Given the description of an element on the screen output the (x, y) to click on. 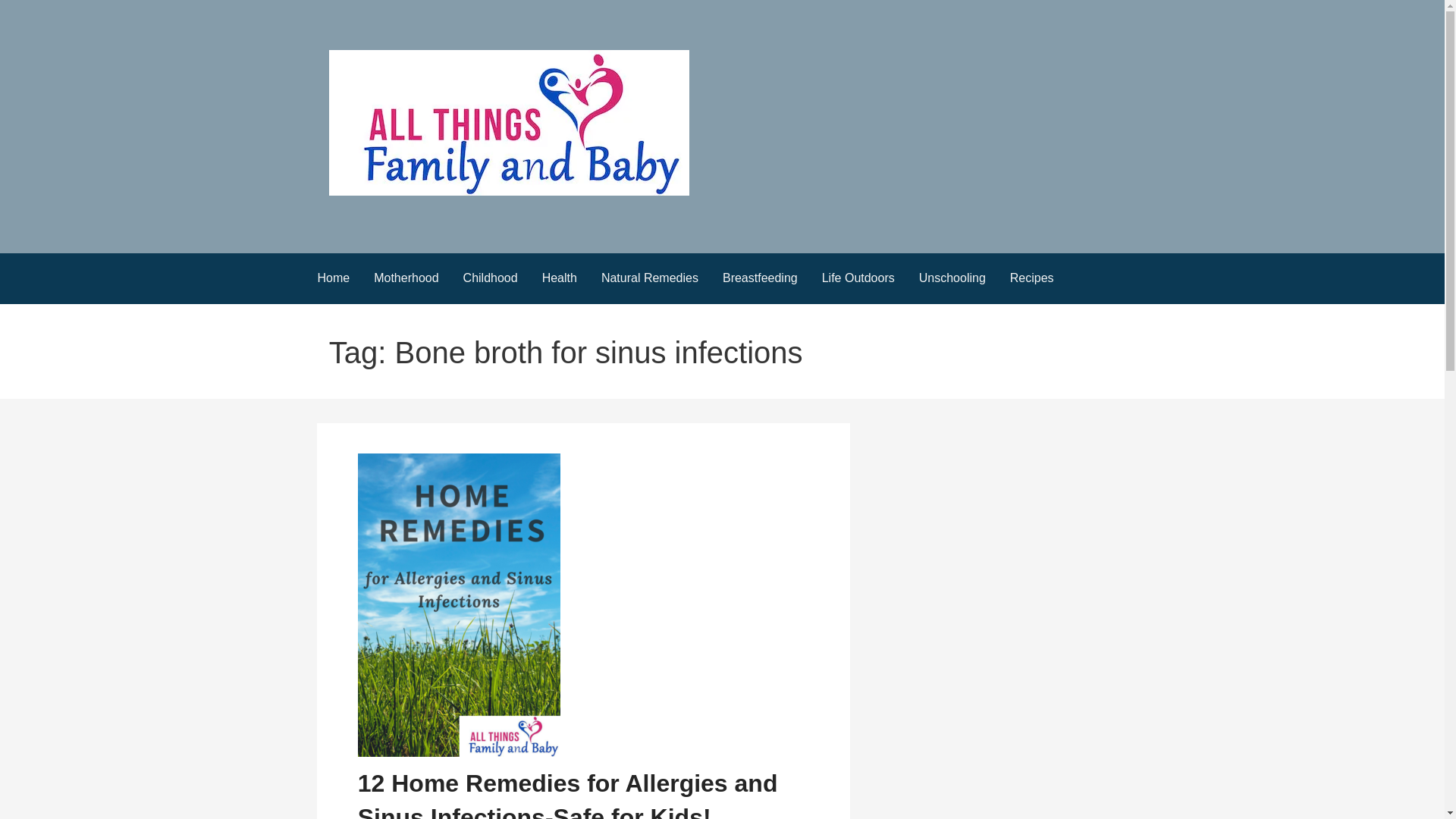
Childhood (490, 278)
Life Outdoors (858, 278)
Natural Remedies (649, 278)
Unschooling (952, 278)
Breastfeeding (759, 278)
Health (559, 278)
All Things Family and Baby (478, 221)
Motherhood (405, 278)
Home (332, 278)
